Given the description of an element on the screen output the (x, y) to click on. 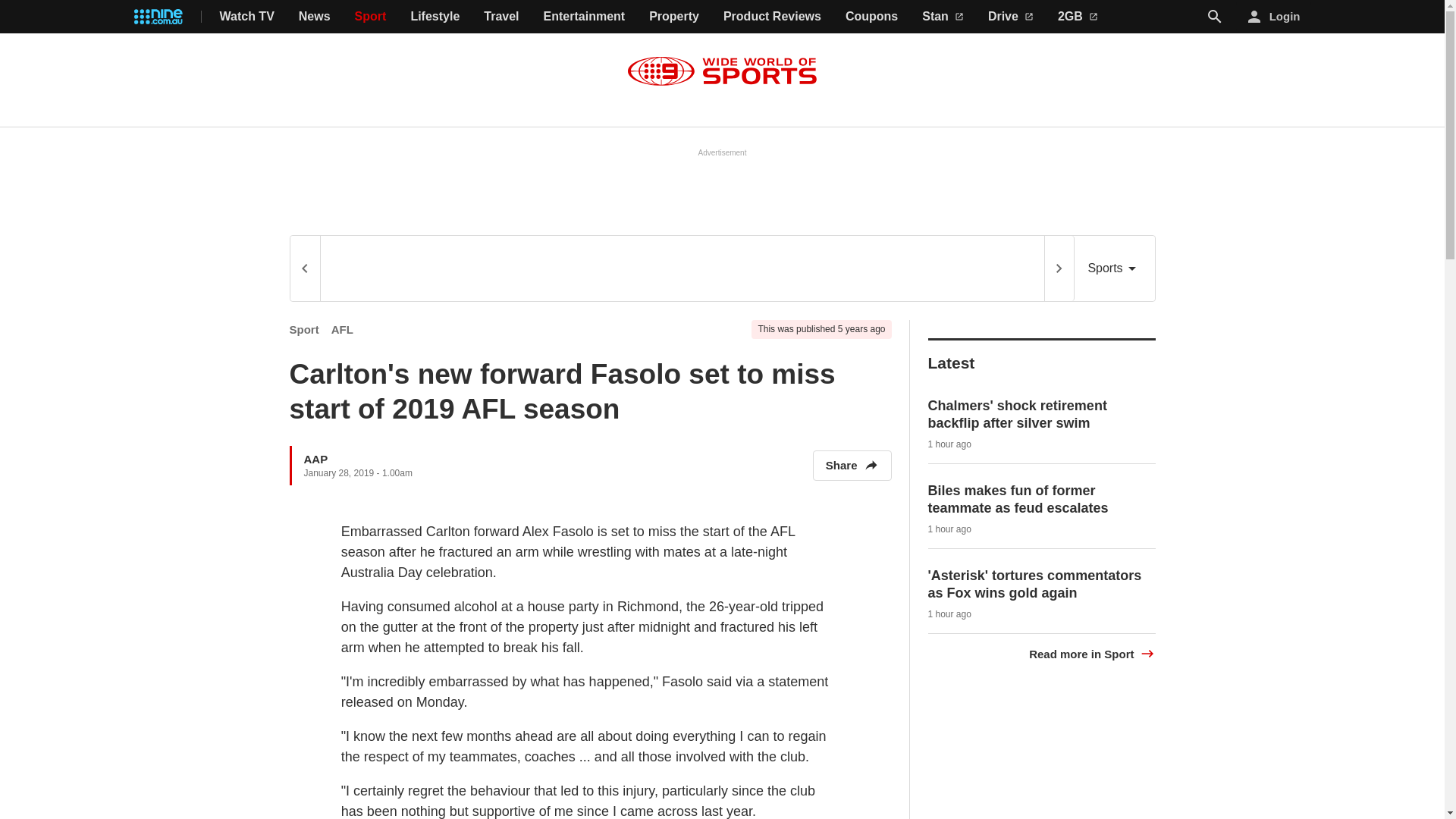
Read more in Sport (1091, 653)
AFL (342, 328)
2GB (1077, 16)
Property (673, 16)
Drive (1010, 16)
Entertainment (584, 16)
Coupons (871, 16)
Search (1214, 16)
Login (1273, 16)
Travel (500, 16)
Sport (303, 328)
Sports (1114, 268)
Lifestyle (435, 16)
News (314, 16)
'Asterisk' tortures commentators as Fox wins gold again (1034, 584)
